Given the description of an element on the screen output the (x, y) to click on. 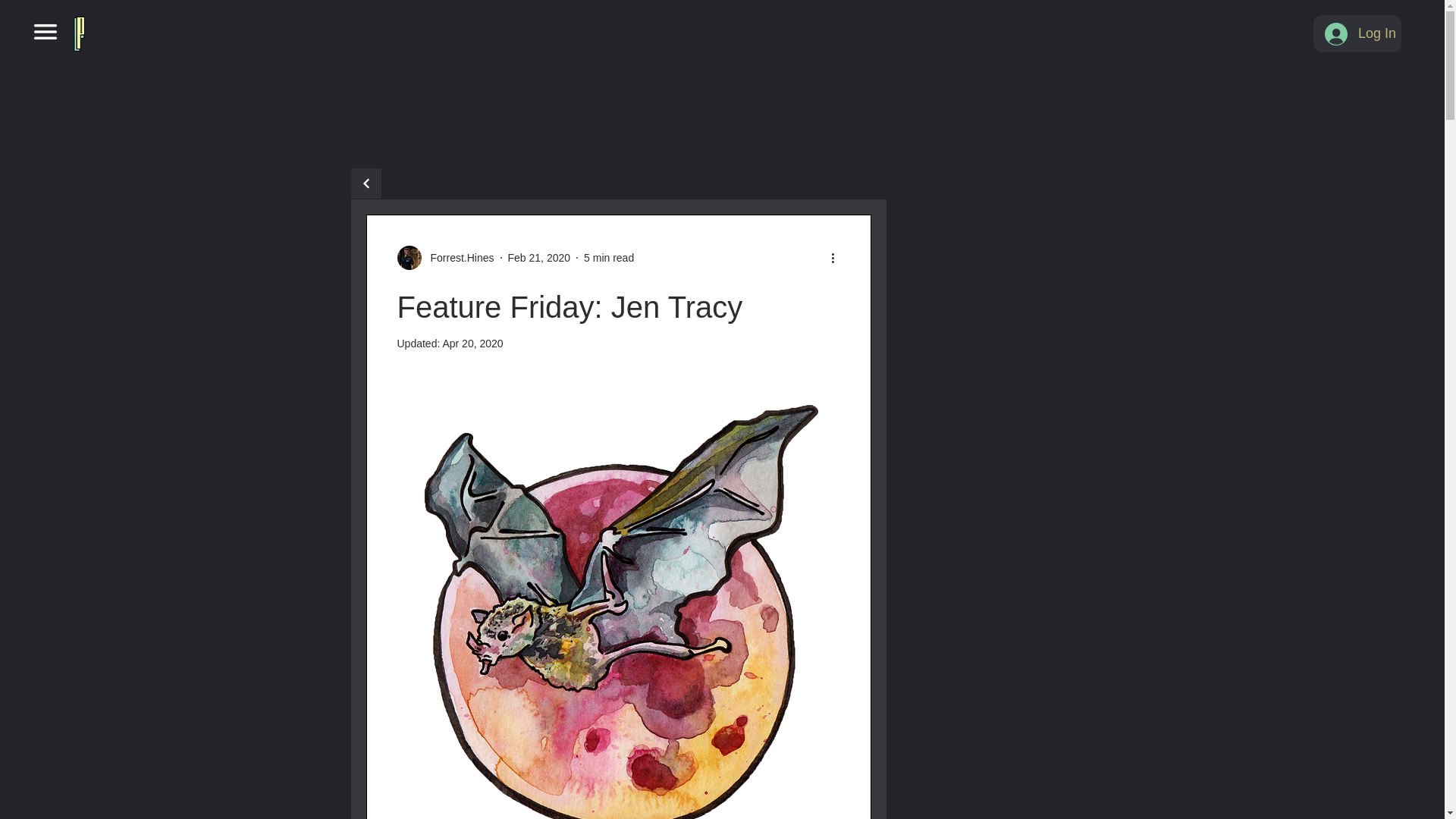
Forrest.Hines (458, 258)
Forrest.Hines (446, 257)
Log In (1357, 33)
Feb 21, 2020 (539, 257)
5 min read (608, 257)
Apr 20, 2020 (472, 343)
